Given the description of an element on the screen output the (x, y) to click on. 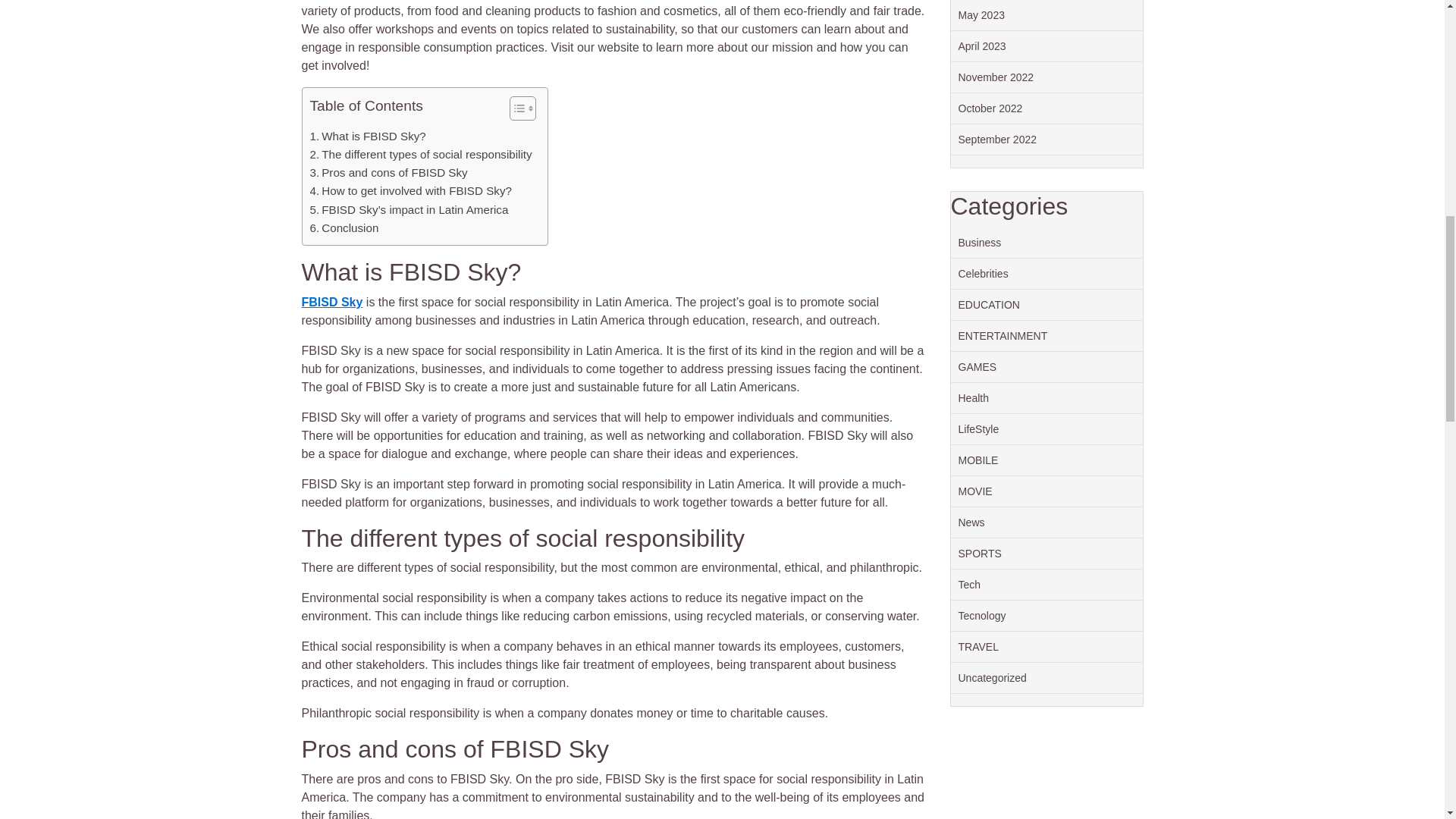
What is FBISD Sky? (366, 136)
The different types of social responsibility (419, 154)
How to get involved with FBISD Sky? (409, 190)
May 2023 (981, 15)
Pros and cons of FBISD Sky (387, 172)
How to get involved with FBISD Sky? (409, 190)
What is FBISD Sky? (366, 136)
The different types of social responsibility (419, 154)
Conclusion (343, 228)
FBISD Sky (331, 301)
